Given the description of an element on the screen output the (x, y) to click on. 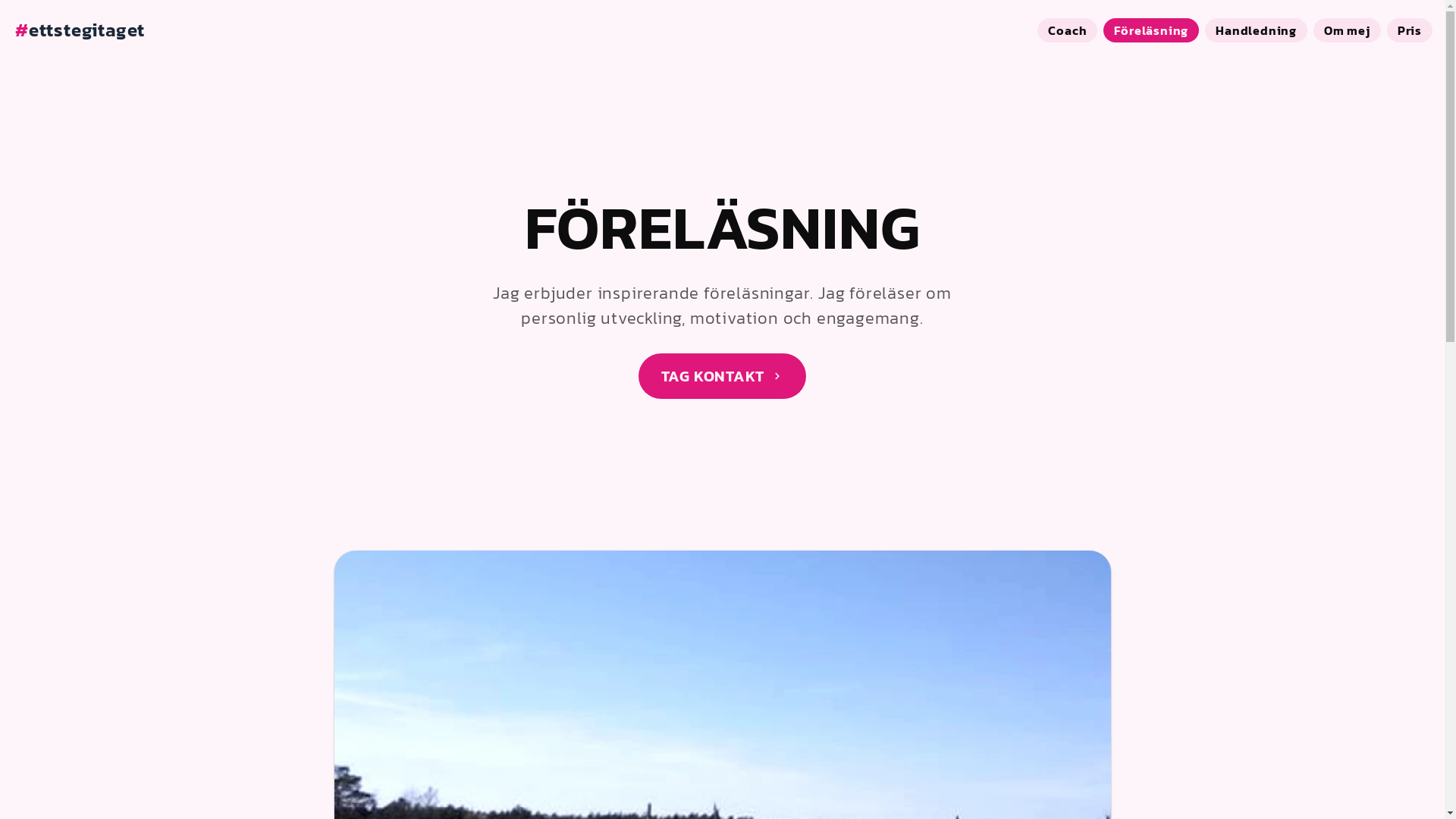
Pris Element type: text (1409, 30)
Handledning Element type: text (1255, 30)
Om mej Element type: text (1346, 30)
TAG KONTAKT Element type: text (722, 375)
#ettstegitaget Element type: text (79, 30)
Coach Element type: text (1067, 30)
